Given the description of an element on the screen output the (x, y) to click on. 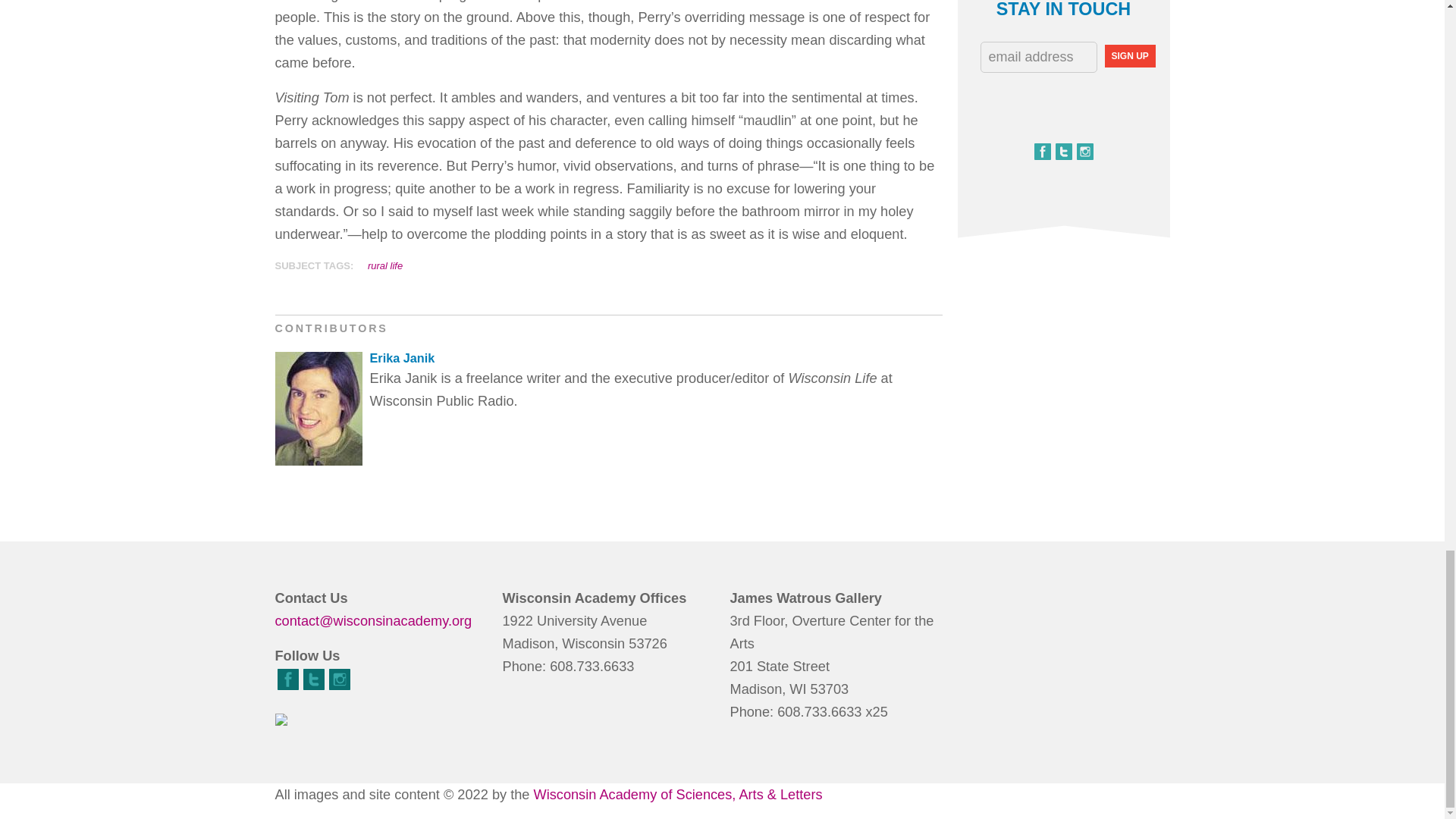
Sign Up (1128, 56)
